Given the description of an element on the screen output the (x, y) to click on. 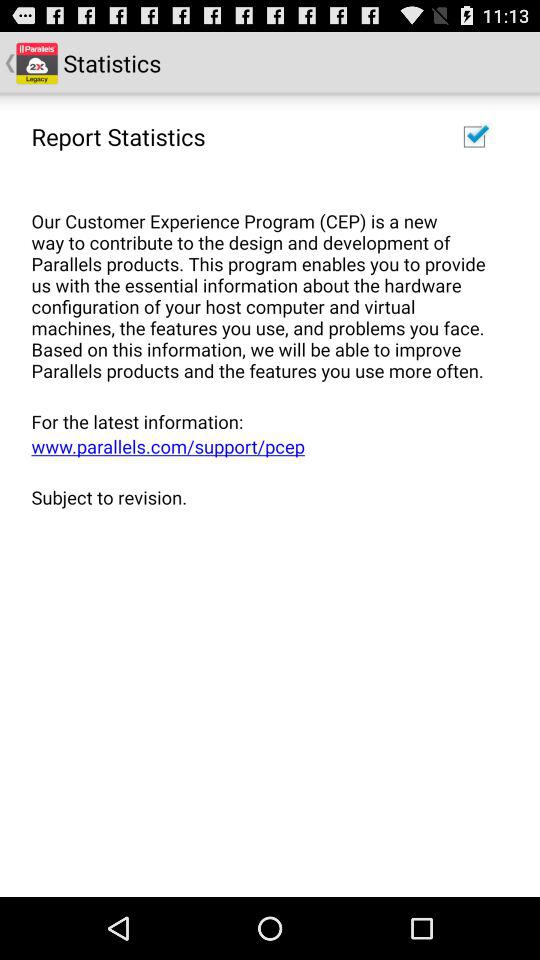
swipe until the subject to revision. item (263, 496)
